Given the description of an element on the screen output the (x, y) to click on. 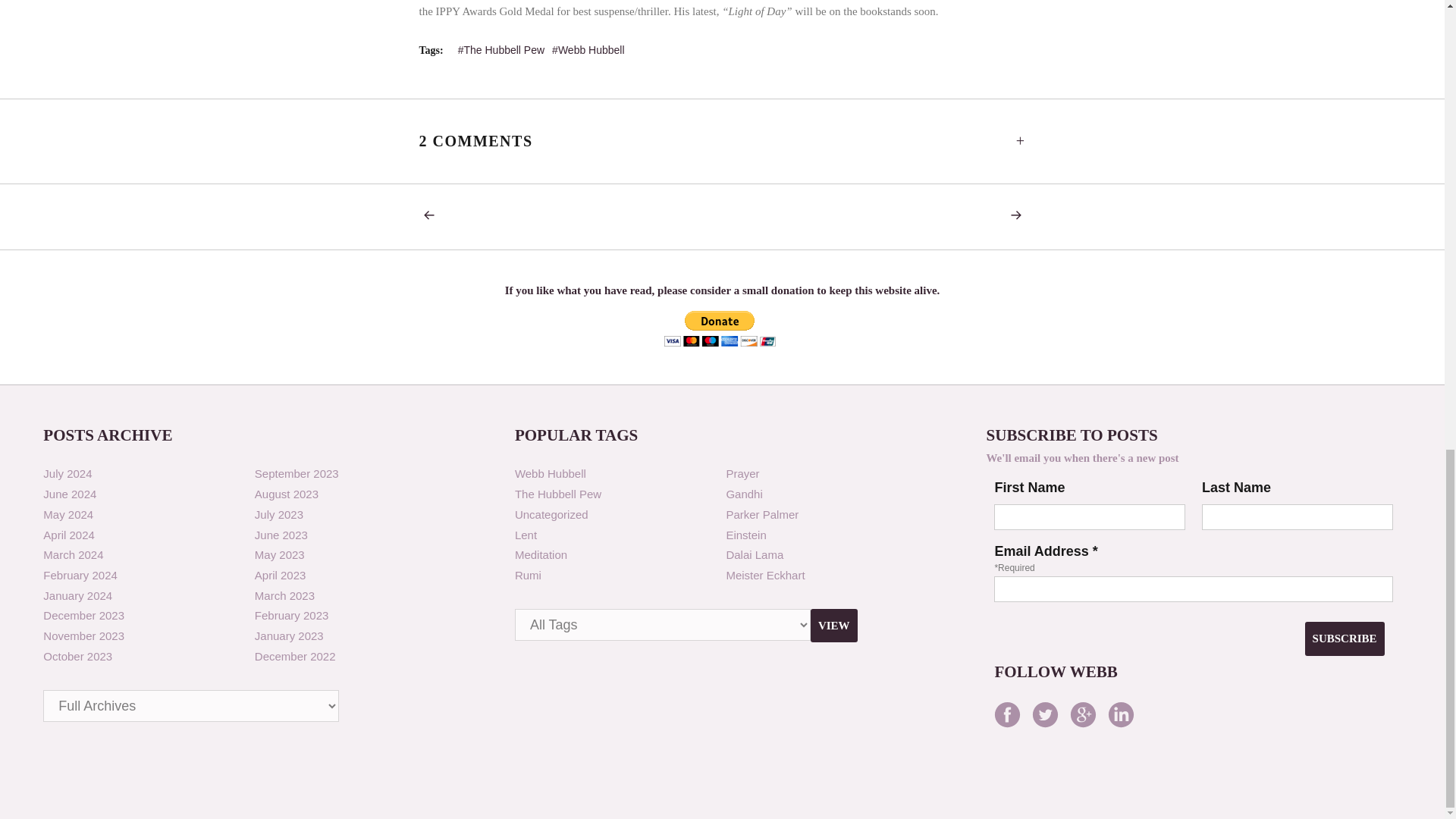
March 2024 (73, 554)
July 2024 (67, 472)
January 2023 (288, 635)
September 2023 (296, 472)
Webb Hubbell Tag (550, 472)
May 2024 (68, 513)
The Hubbell Pew Tag (558, 493)
Prayer Tag (741, 472)
Subscribe (1344, 638)
February 2024 (80, 574)
Uncategorized Tag (551, 513)
January 2024 (77, 594)
June 2023 (280, 534)
Leave a Reply (1021, 140)
April 2023 (279, 574)
